Given the description of an element on the screen output the (x, y) to click on. 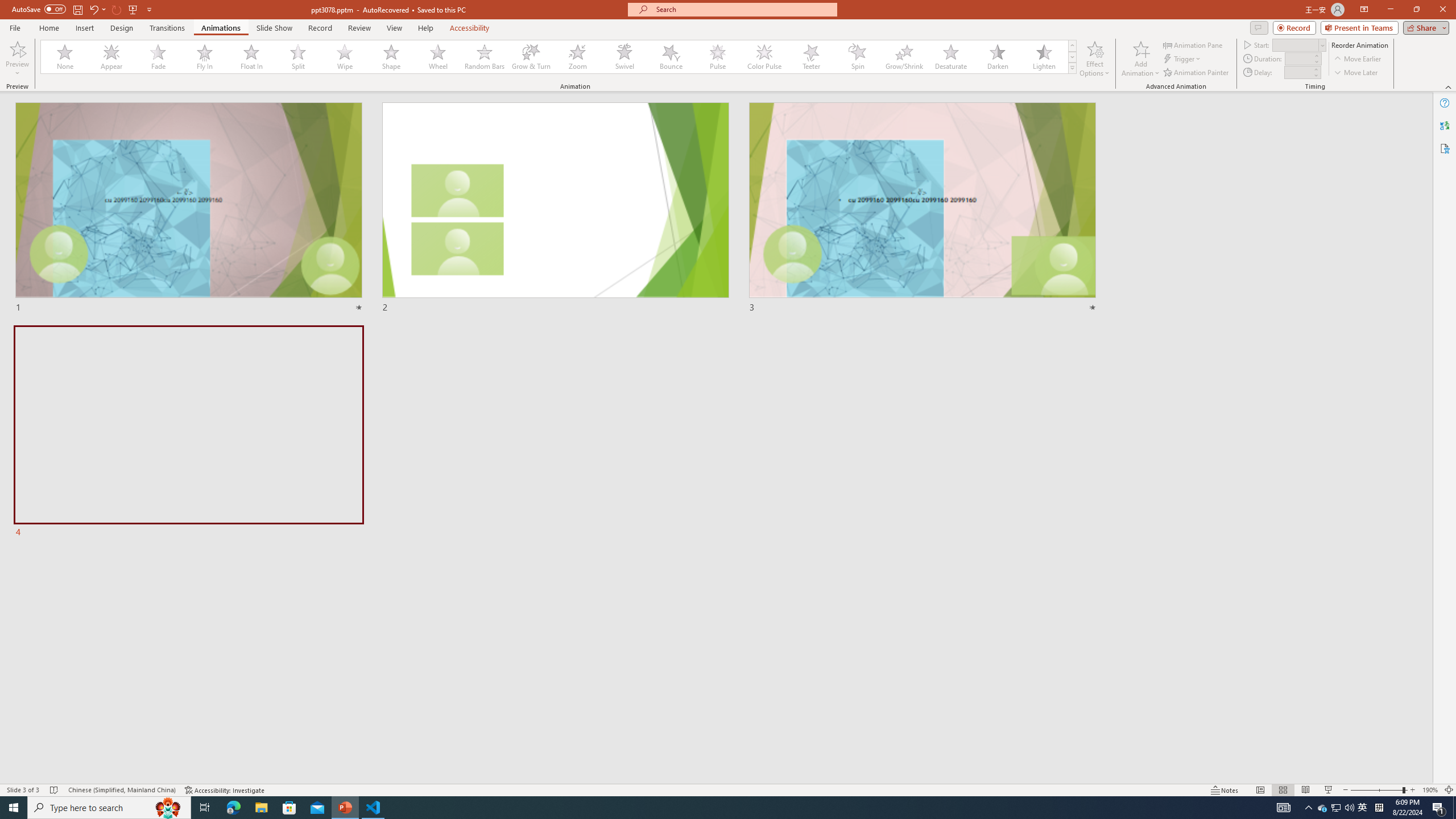
Fly In (205, 56)
Appear (111, 56)
Trigger (1182, 58)
Move Later (1355, 72)
Grow & Turn (531, 56)
Float In (251, 56)
